Given the description of an element on the screen output the (x, y) to click on. 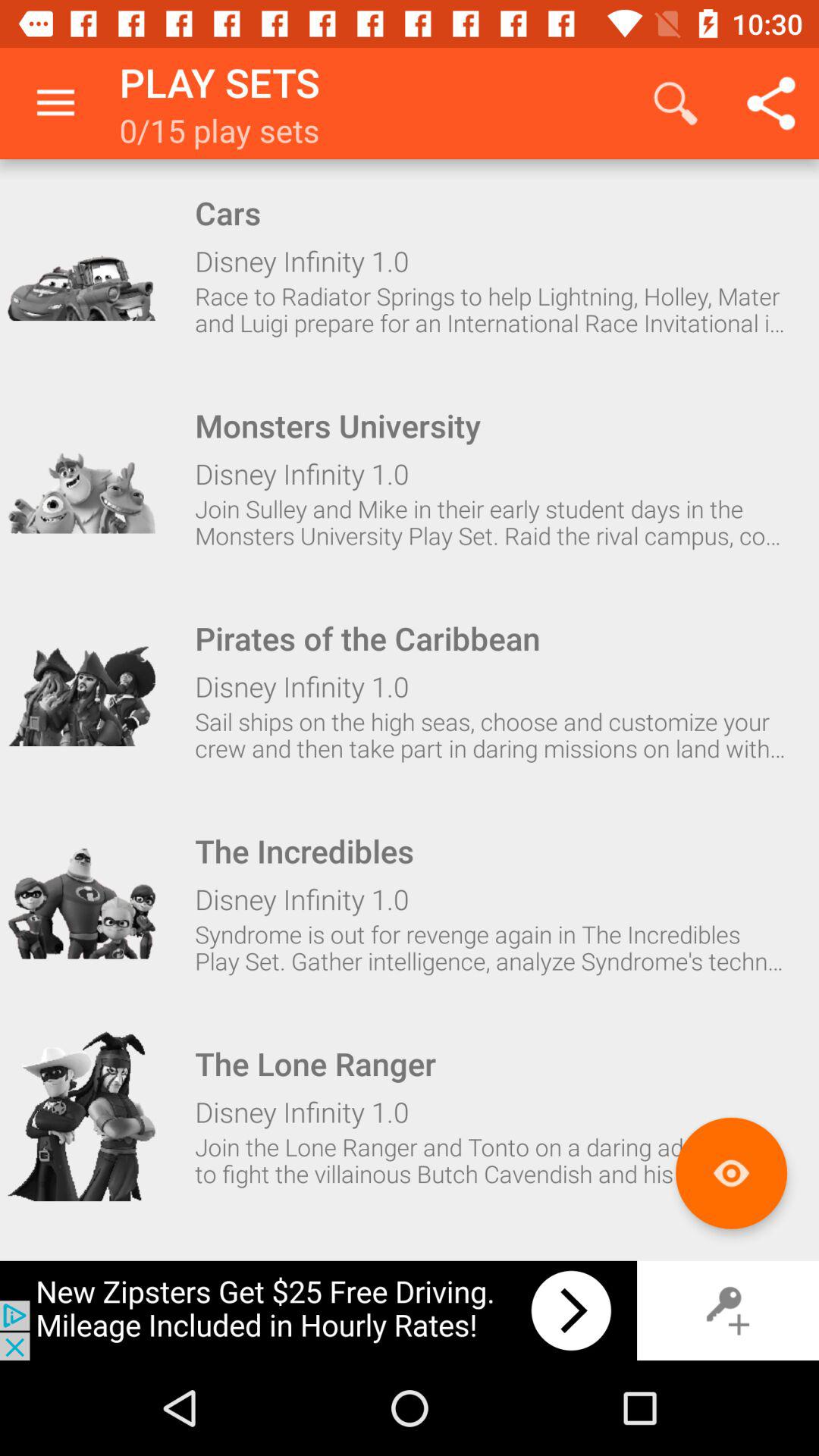
25 dollar coupon for new customer (318, 1310)
